Given the description of an element on the screen output the (x, y) to click on. 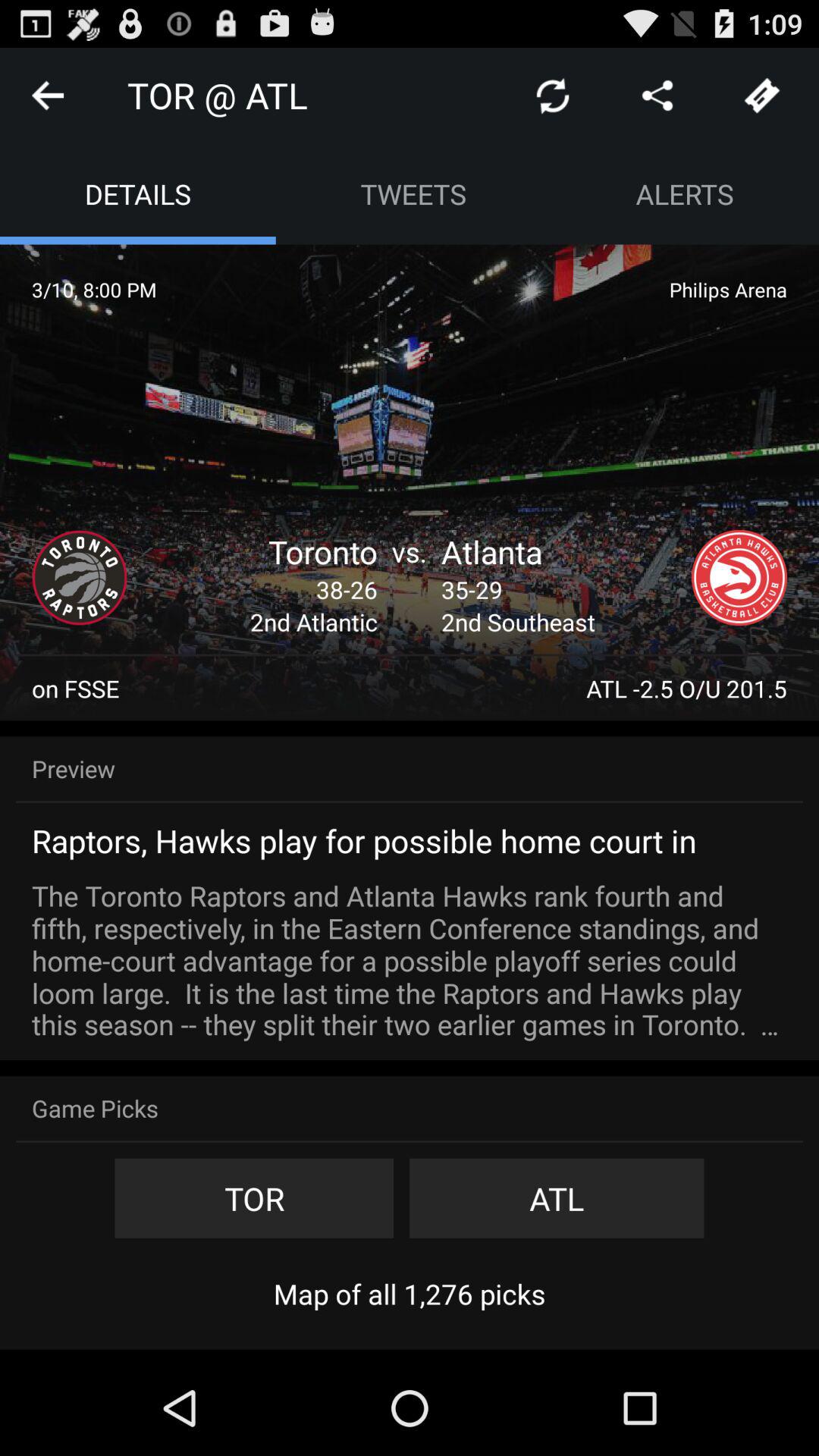
team news (739, 577)
